Given the description of an element on the screen output the (x, y) to click on. 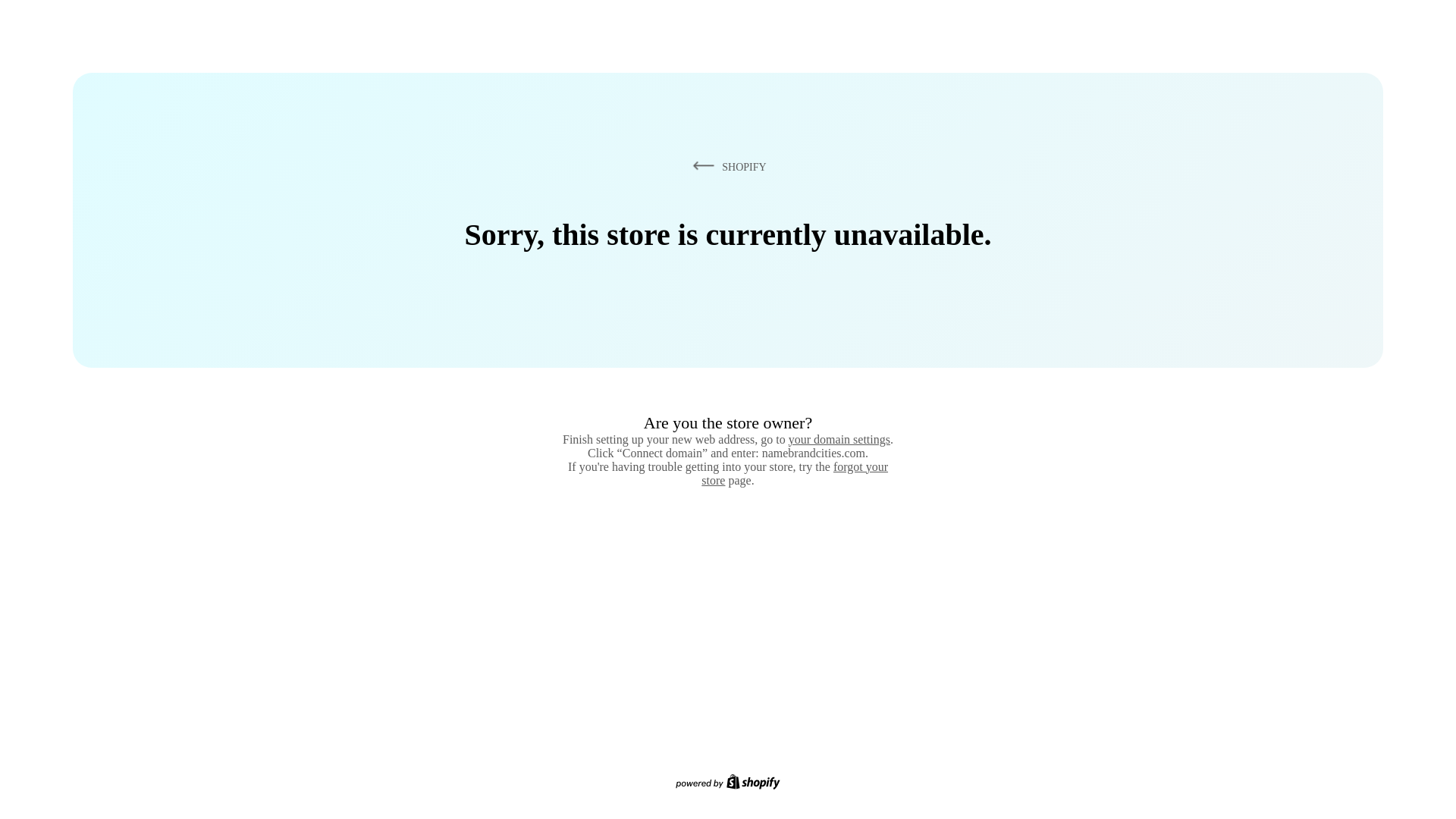
forgot your store (794, 473)
SHOPIFY (726, 166)
your domain settings (839, 439)
